Given the description of an element on the screen output the (x, y) to click on. 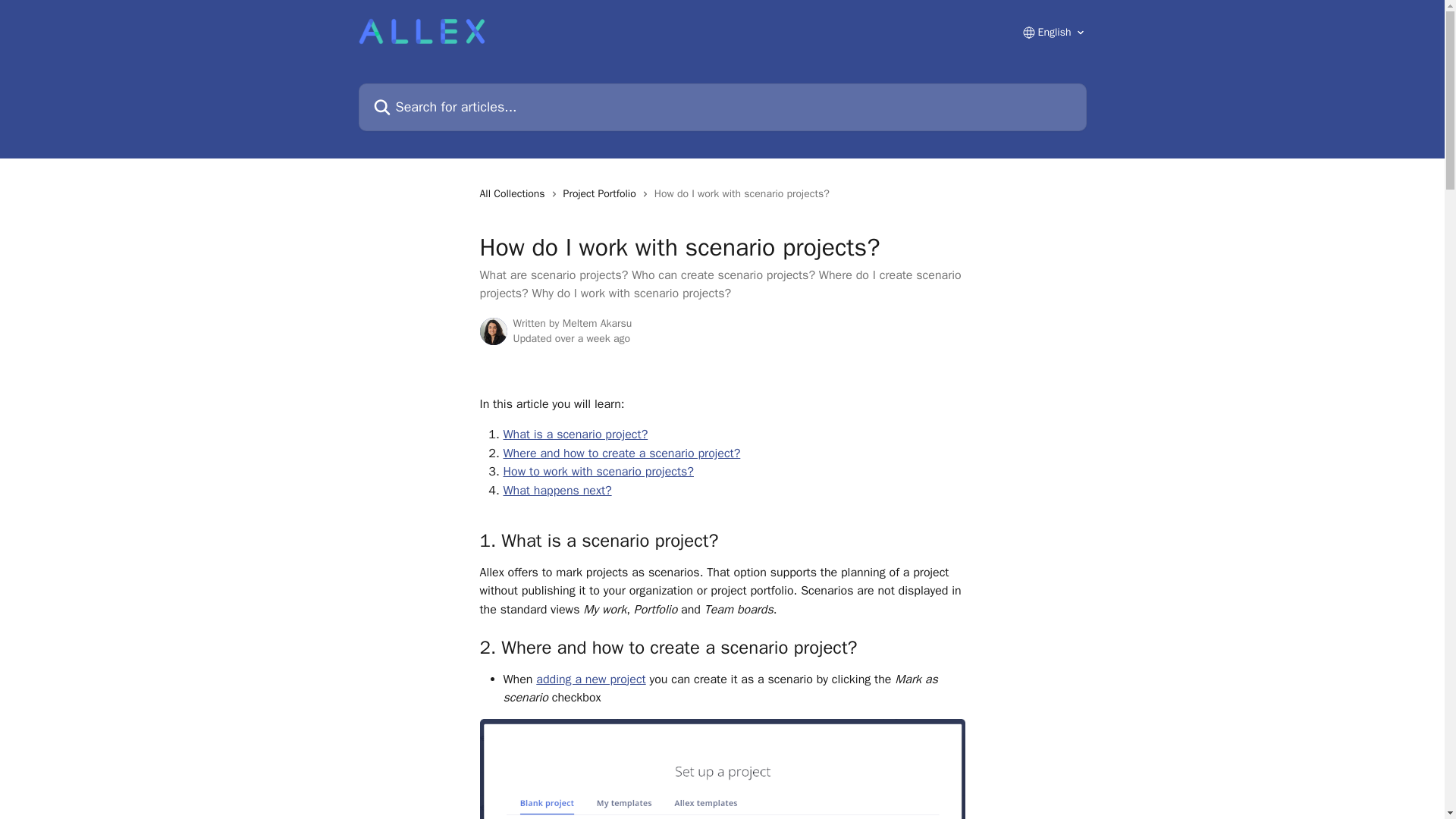
How to work with scenario projects? (598, 471)
Where and how to create a scenario project? (622, 453)
What happens next? (557, 490)
All Collections (514, 193)
adding a new project (590, 679)
What is a scenario project? (575, 434)
Project Portfolio (602, 193)
